Given the description of an element on the screen output the (x, y) to click on. 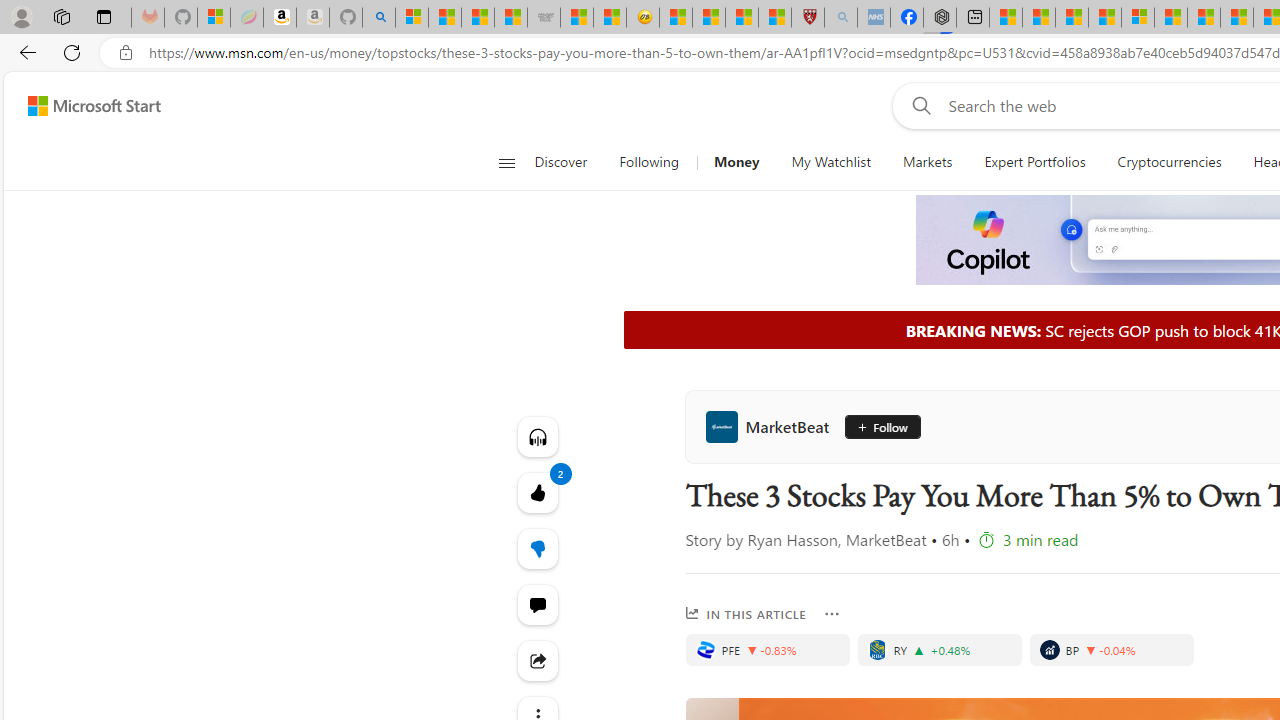
My Watchlist (830, 162)
PFIZER INC. (705, 650)
Price increase (918, 650)
More Options (832, 614)
Price decrease (1090, 650)
